Given the description of an element on the screen output the (x, y) to click on. 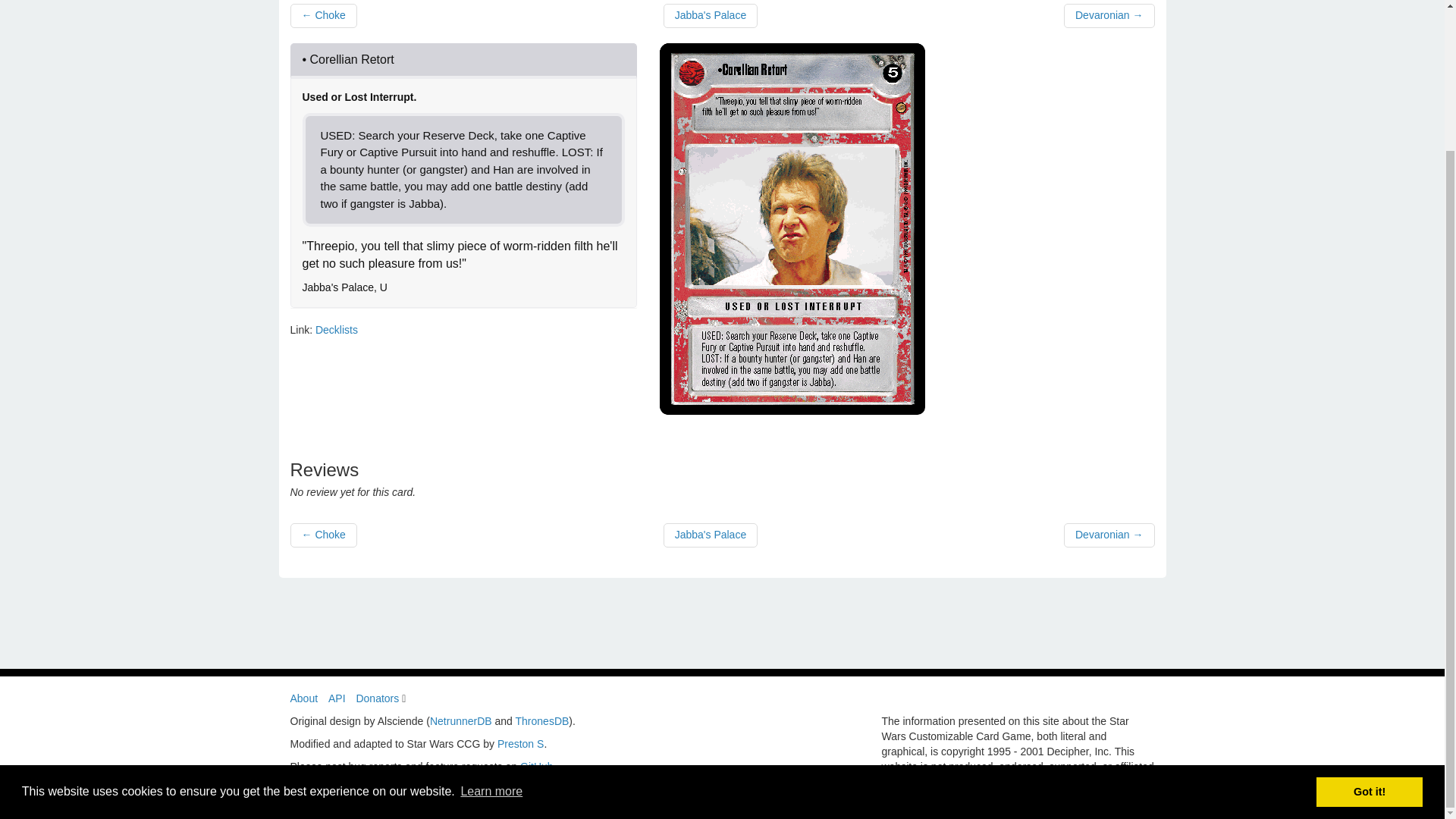
Jabba's Palace (710, 15)
Got it! (1369, 617)
Learn more (491, 617)
Uncommon (383, 287)
The Gracious Donator (403, 698)
